Given the description of an element on the screen output the (x, y) to click on. 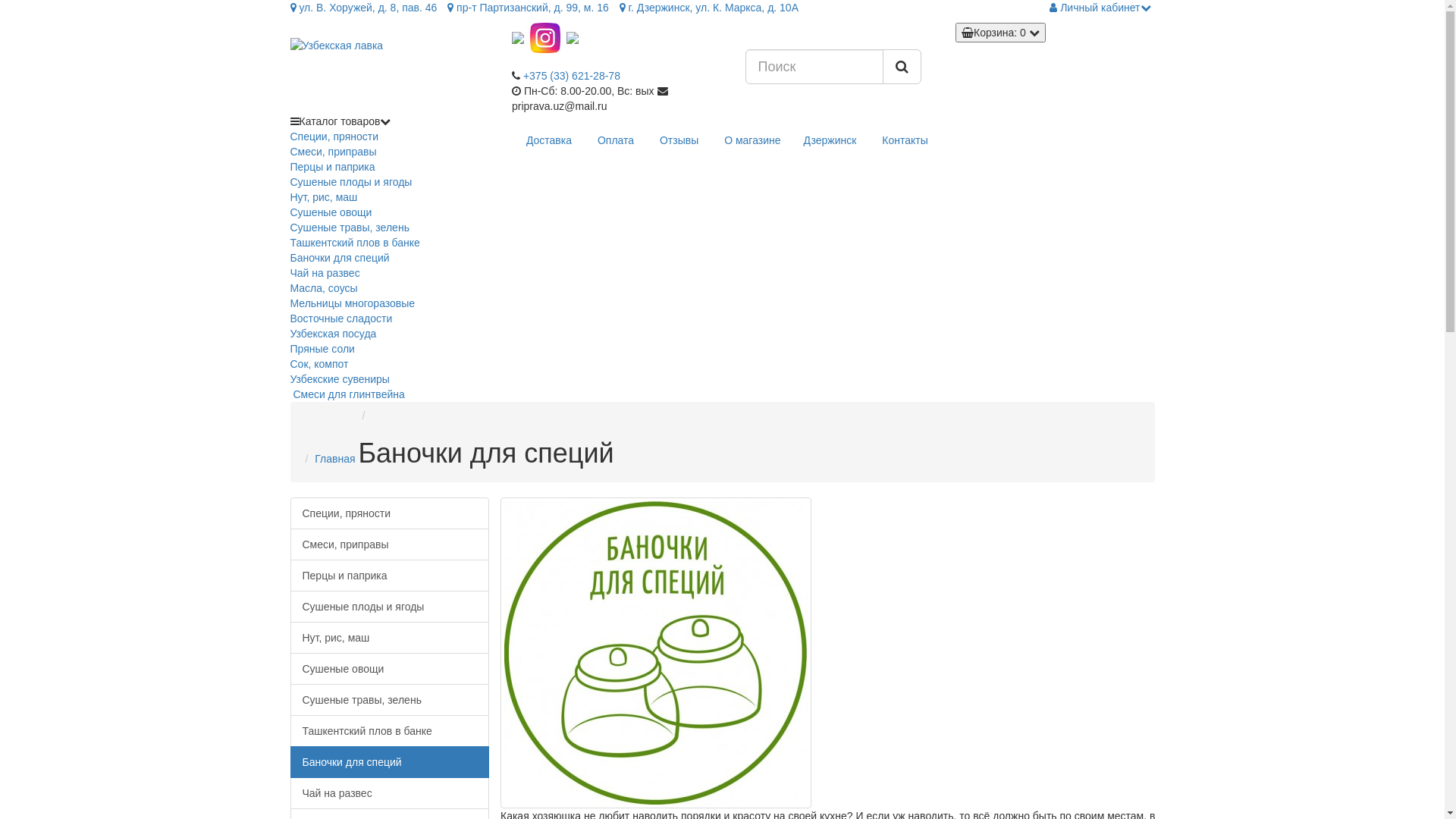
+375 (33) 621-28-78 Element type: text (571, 75)
